Given the description of an element on the screen output the (x, y) to click on. 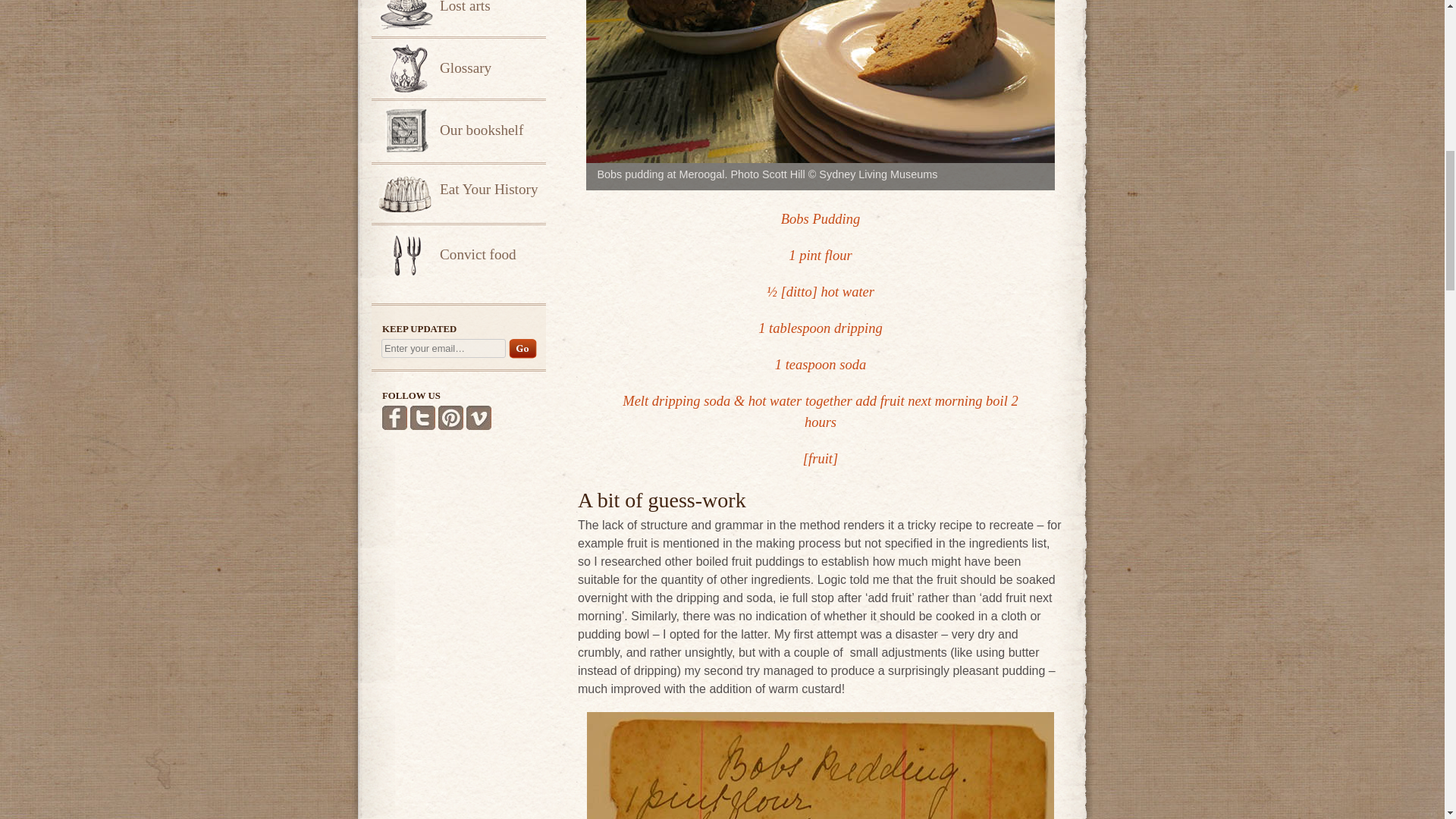
Lost arts (458, 18)
See more videos on Vimeo (478, 417)
Glossary (458, 67)
Go (522, 348)
Follow us on Twitter (422, 417)
Convict food (458, 253)
Find us on Facebook (394, 417)
Find us on Facebook (394, 417)
Eat Your History (458, 191)
Follow us on Twitter (422, 417)
